Given the description of an element on the screen output the (x, y) to click on. 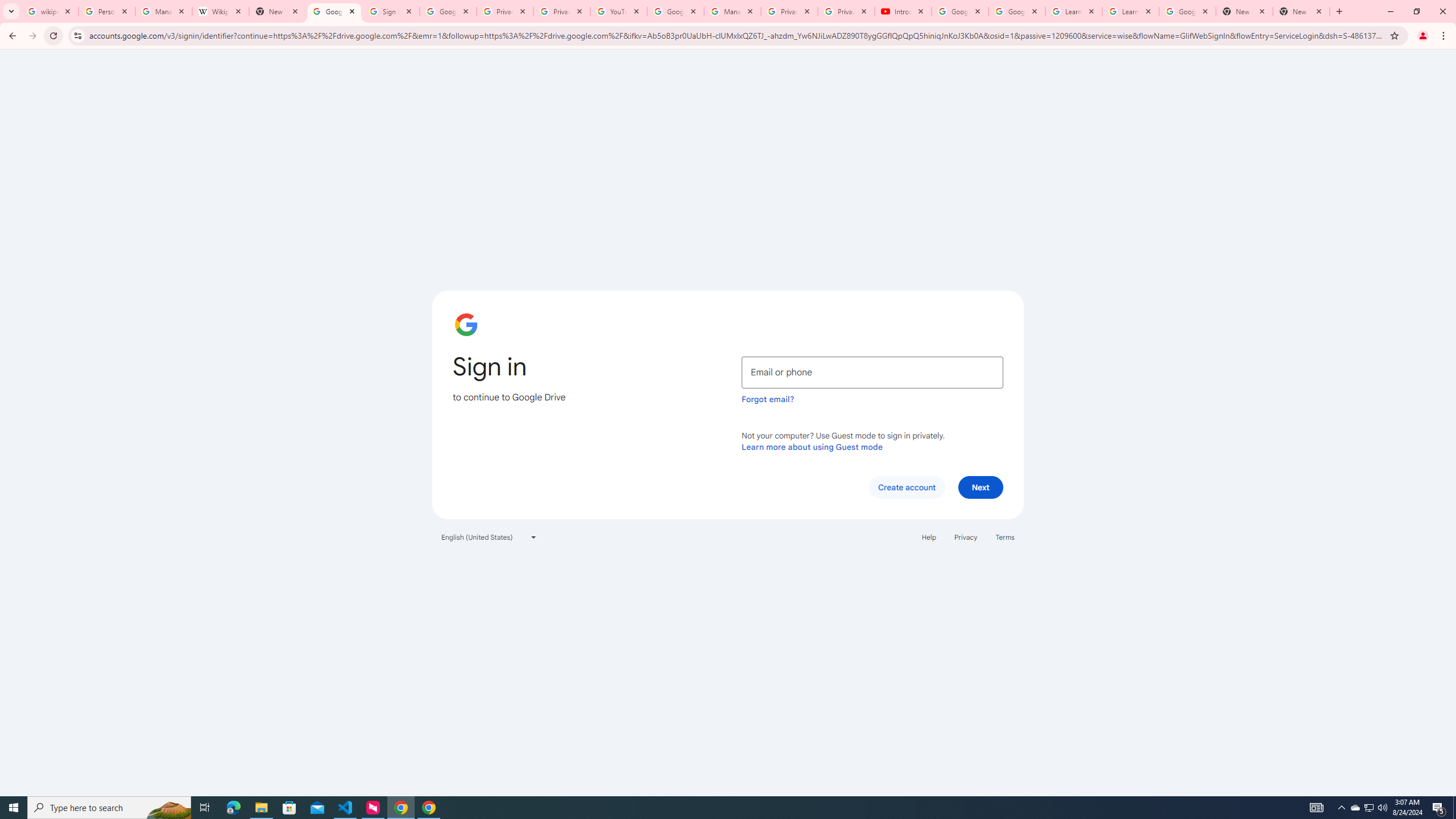
Introduction | Google Privacy Policy - YouTube (902, 11)
Google Account Help (675, 11)
Learn more about using Guest mode (812, 446)
Next (980, 486)
Wikipedia:Edit requests - Wikipedia (220, 11)
Terms (1005, 536)
Personalization & Google Search results - Google Search Help (105, 11)
Google Account Help (1015, 11)
Google Drive: Sign-in (334, 11)
YouTube (618, 11)
